Given the description of an element on the screen output the (x, y) to click on. 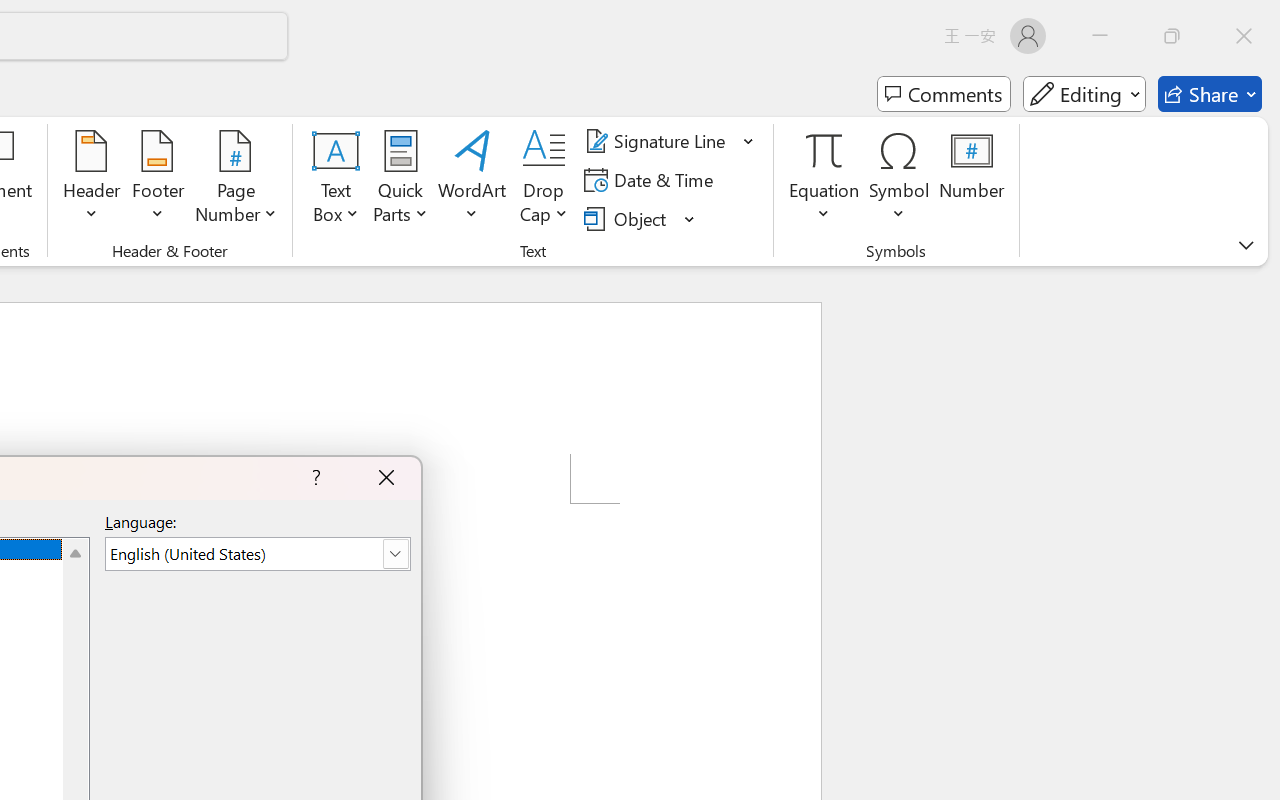
Equation (823, 179)
Close (1244, 36)
Page Number (236, 179)
Quick Parts (400, 179)
Equation (823, 150)
Share (1210, 94)
Text Box (335, 179)
Footer (157, 179)
Date & Time... (651, 179)
Signature Line (669, 141)
Drop Cap (543, 179)
Object... (628, 218)
